Given the description of an element on the screen output the (x, y) to click on. 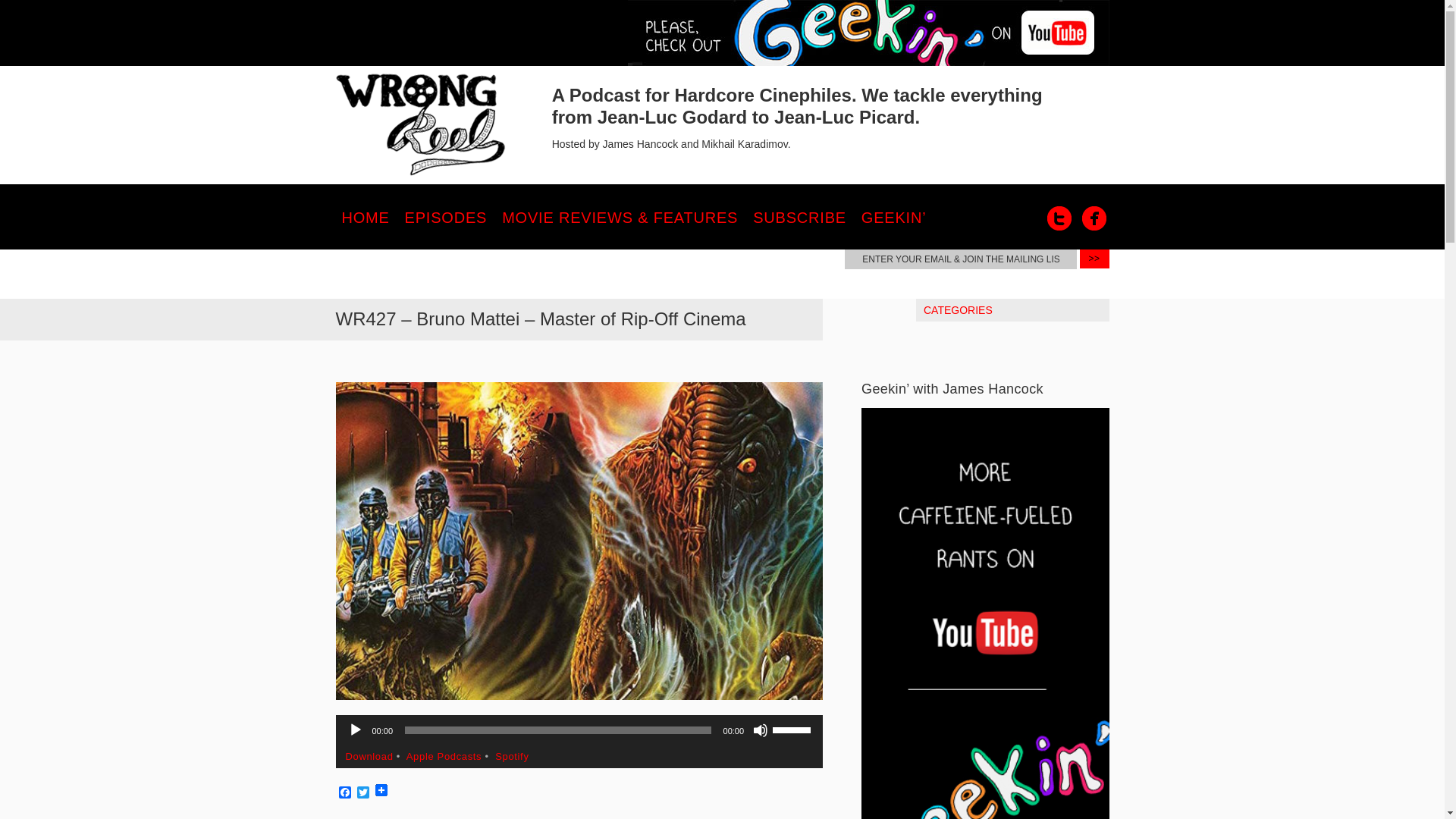
Mute (760, 729)
Apple Podcasts (443, 756)
Twitter (362, 793)
HOME (364, 217)
Wrong Reel Productions (419, 124)
Facebook (1093, 218)
Play (354, 729)
Twitter (1058, 218)
Facebook (343, 793)
Spotify (511, 756)
Download (369, 756)
SUBSCRIBE (798, 217)
EPISODES (445, 217)
Facebook (343, 793)
